Given the description of an element on the screen output the (x, y) to click on. 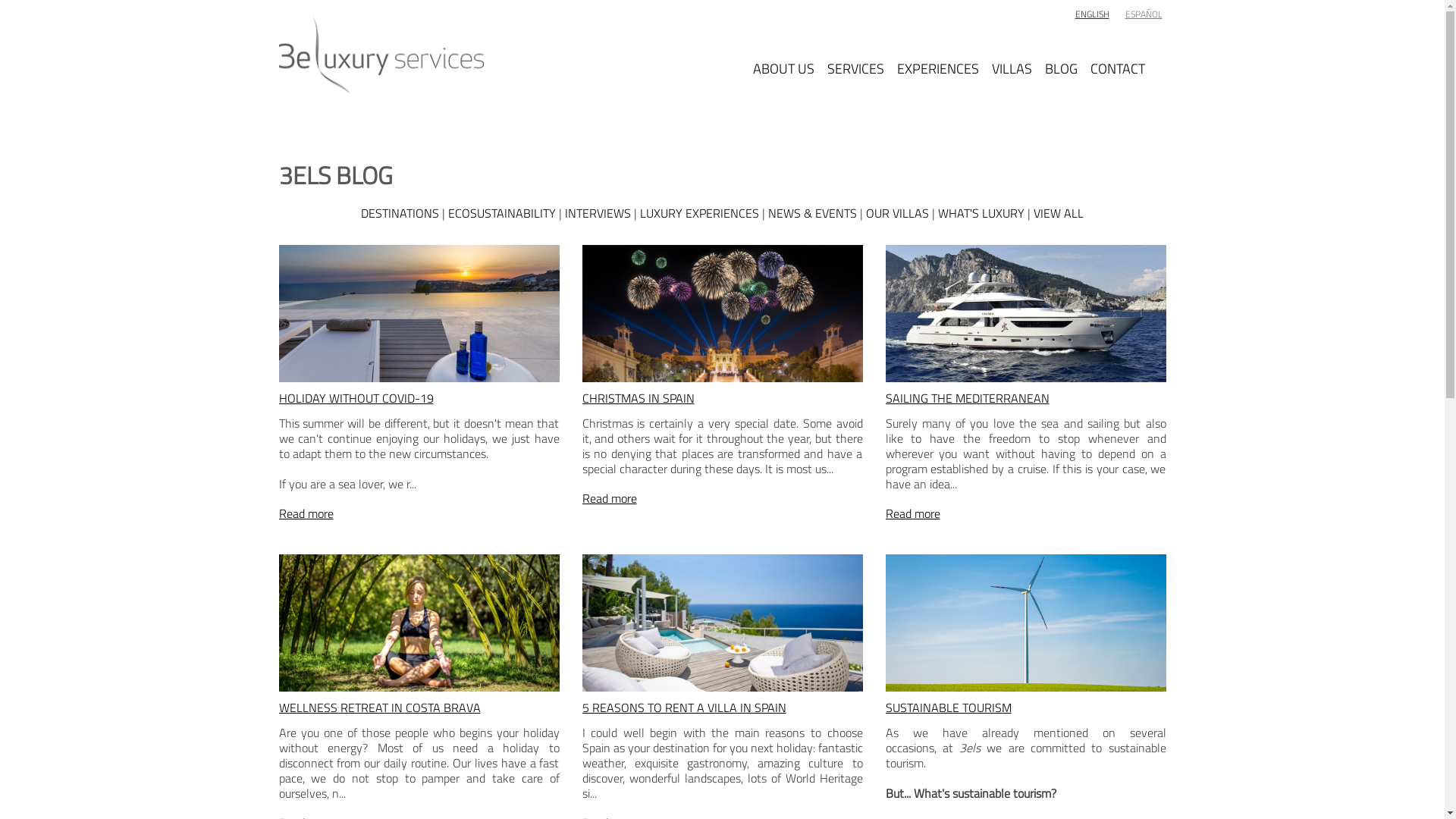
5 REASONS TO RENT A VILLA IN SPAIN Element type: text (684, 707)
ENGLISH Element type: text (1092, 13)
CONTACT Element type: text (1117, 54)
VIEW ALL Element type: text (1058, 212)
WELLNESS RETREAT IN COSTA BRAVA Element type: text (379, 707)
Read more Element type: text (912, 513)
SERVICES Element type: text (854, 54)
INTERVIEWS Element type: text (597, 212)
Read more Element type: text (306, 513)
VILLAS Element type: text (1011, 54)
EXPERIENCES Element type: text (937, 54)
DESTINATIONS Element type: text (399, 212)
Read more Element type: text (609, 498)
LUXURY EXPERIENCES Element type: text (699, 212)
WHAT'S LUXURY Element type: text (981, 212)
SAILING THE MEDITERRANEAN Element type: text (967, 398)
OUR VILLAS Element type: text (897, 212)
ECOSUSTAINABILITY Element type: text (501, 212)
BLOG Element type: text (1060, 54)
CHRISTMAS IN SPAIN Element type: text (638, 398)
ABOUT US Element type: text (782, 54)
SUSTAINABLE TOURISM Element type: text (948, 707)
NEWS & EVENTS Element type: text (812, 212)
HOLIDAY WITHOUT COVID-19 Element type: text (356, 398)
